Given the description of an element on the screen output the (x, y) to click on. 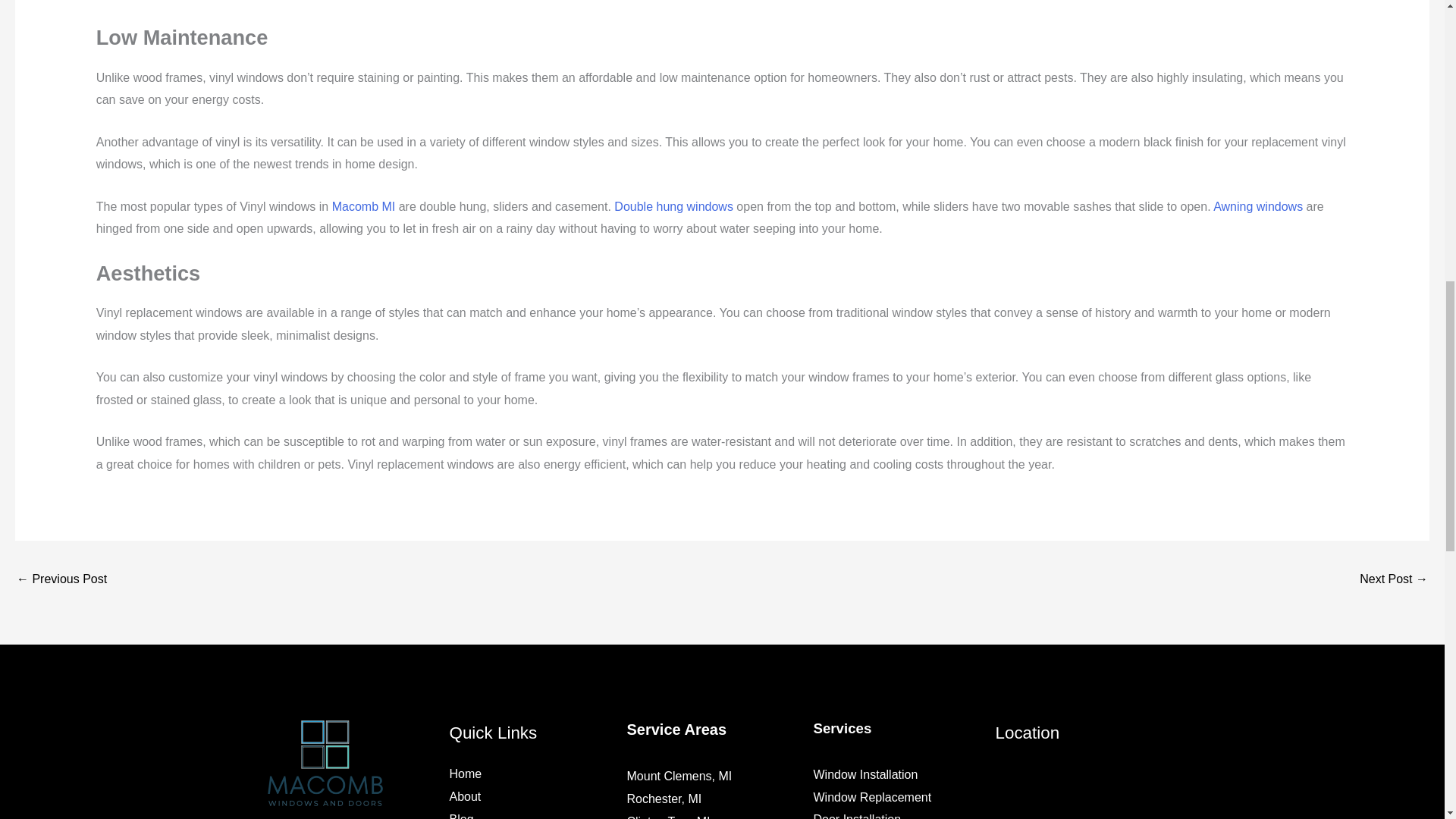
Connecting Indoors and Out With Patio Doors (1393, 580)
Door Companies Near Me Macomb MI (61, 580)
Macomb MI (363, 205)
Double hung windows (673, 205)
Awning windows (1257, 205)
